Given the description of an element on the screen output the (x, y) to click on. 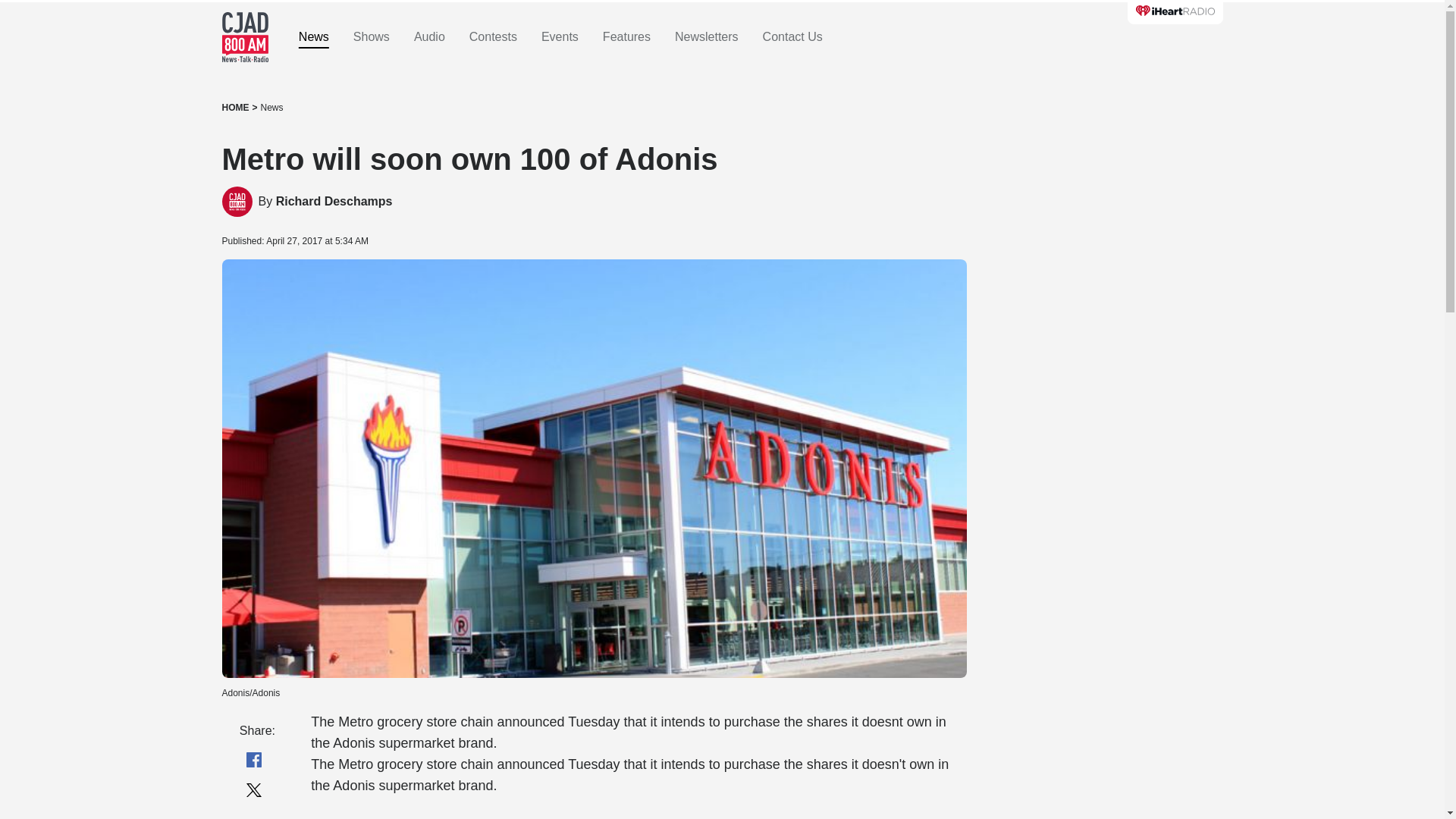
News (271, 107)
Richard Deschamps (236, 201)
Contact Us (792, 37)
HOME (234, 107)
Features (626, 37)
Richard Deschamps (334, 201)
Contests (492, 37)
Richard Deschamps (334, 201)
Newsletters (706, 37)
